Given the description of an element on the screen output the (x, y) to click on. 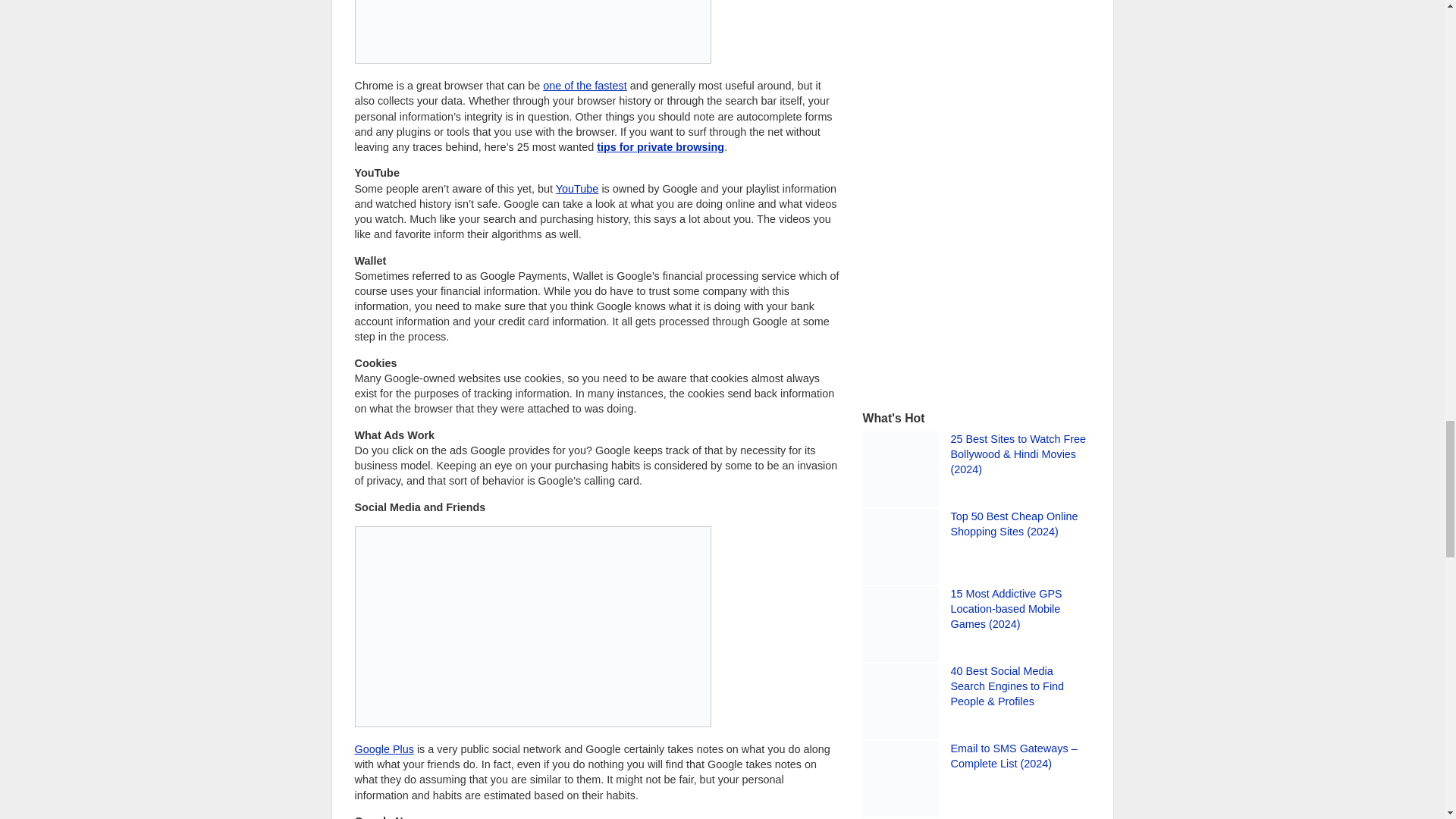
tips for private browsing (659, 146)
one of the fastest (584, 85)
Google Plus (384, 748)
YouTube (577, 188)
